Given the description of an element on the screen output the (x, y) to click on. 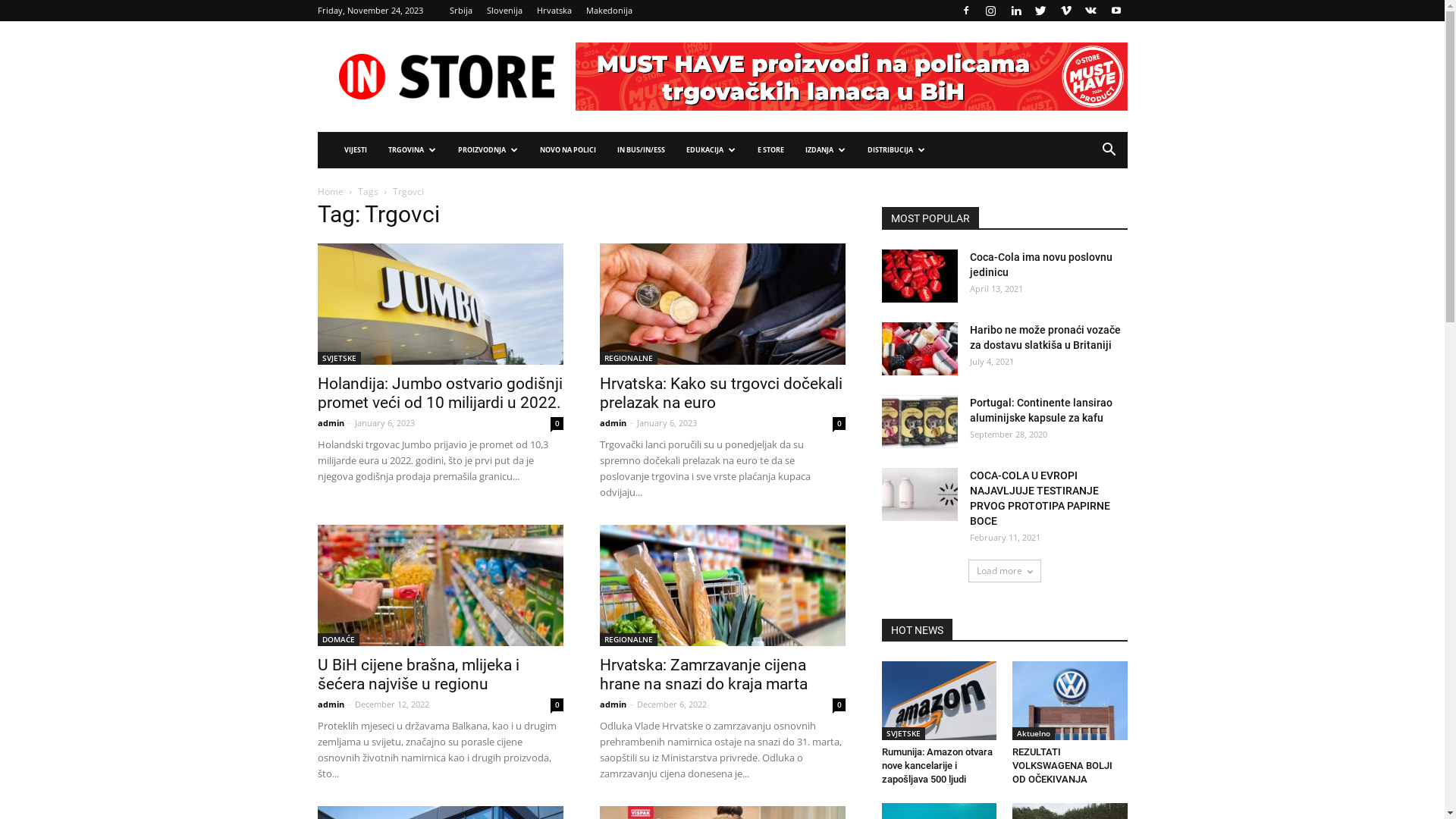
Coca-Cola ima novu poslovnu jedinicu Element type: text (1040, 264)
REGIONALNE Element type: text (627, 639)
EDUKACIJA Element type: text (710, 149)
Hrvatska: Zamrzavanje cijena hrane na snazi do kraja marta Element type: hover (721, 585)
Twitter Element type: hover (1040, 10)
Linkedin Element type: hover (1015, 10)
Coca-Cola ima novu poslovnu jedinicu Element type: hover (919, 275)
admin Element type: text (329, 703)
0 Element type: text (838, 704)
Portugal: Continente lansirao aluminijske kapsule za kafu Element type: hover (919, 421)
Aktuelno Element type: text (1033, 733)
admin Element type: text (612, 703)
0 Element type: text (838, 423)
0 Element type: text (556, 704)
PROIZVODNJA Element type: text (488, 149)
REGIONALNE Element type: text (627, 357)
SVJETSKE Element type: text (338, 357)
VIJESTI Element type: text (355, 149)
Facebook Element type: hover (964, 10)
Search Element type: text (1085, 210)
Srbija Element type: text (459, 9)
Hrvatska Element type: text (553, 9)
SVJETSKE Element type: text (902, 733)
Vimeo Element type: hover (1065, 10)
admin Element type: text (329, 422)
Instagram Element type: hover (990, 10)
Hrvatska: Zamrzavanje cijena hrane na snazi do kraja marta Element type: text (702, 674)
Load more Element type: text (1003, 570)
0 Element type: text (556, 423)
admin Element type: text (612, 422)
Home Element type: text (329, 191)
Makedonija Element type: text (608, 9)
DISTRIBUCIJA Element type: text (896, 149)
Portugal: Continente lansirao aluminijske kapsule za kafu Element type: text (1040, 409)
Youtube Element type: hover (1115, 10)
IN BUS/IN/ESS Element type: text (640, 149)
Slovenija Element type: text (504, 9)
NOVO NA POLICI Element type: text (567, 149)
IZDANJA Element type: text (825, 149)
VKontakte Element type: hover (1090, 10)
E STORE Element type: text (769, 149)
TRGOVINA Element type: text (412, 149)
